Given the description of an element on the screen output the (x, y) to click on. 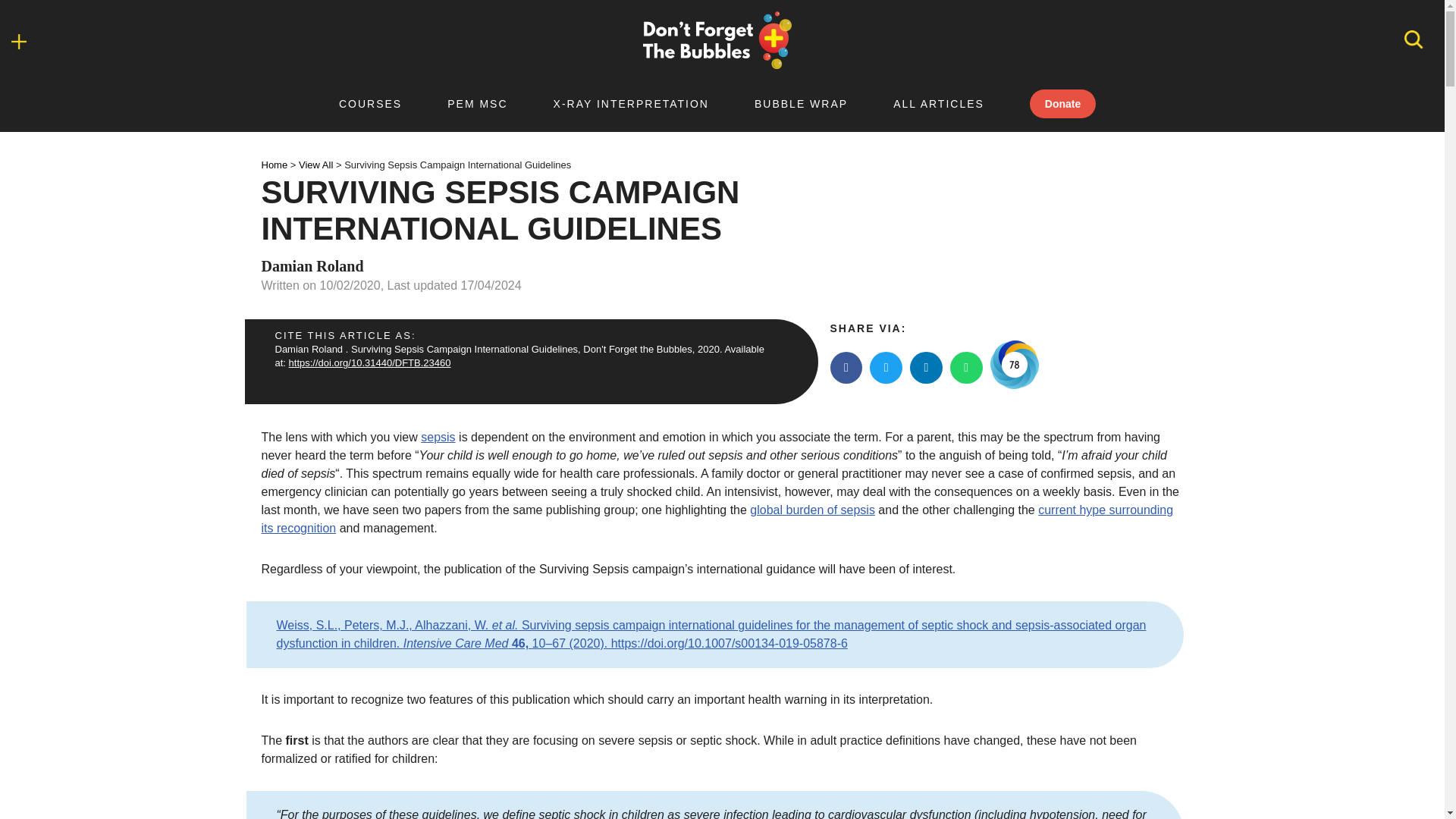
Donate (1062, 103)
Damian Roland (311, 265)
ALL ARTICLES (938, 103)
COURSES (370, 103)
Donate (1062, 103)
X-RAY INTERPRETATION (631, 103)
Damian Roland (308, 348)
BUBBLE WRAP (801, 103)
Skip to content (11, 31)
PEM MSC (477, 103)
